Given the description of an element on the screen output the (x, y) to click on. 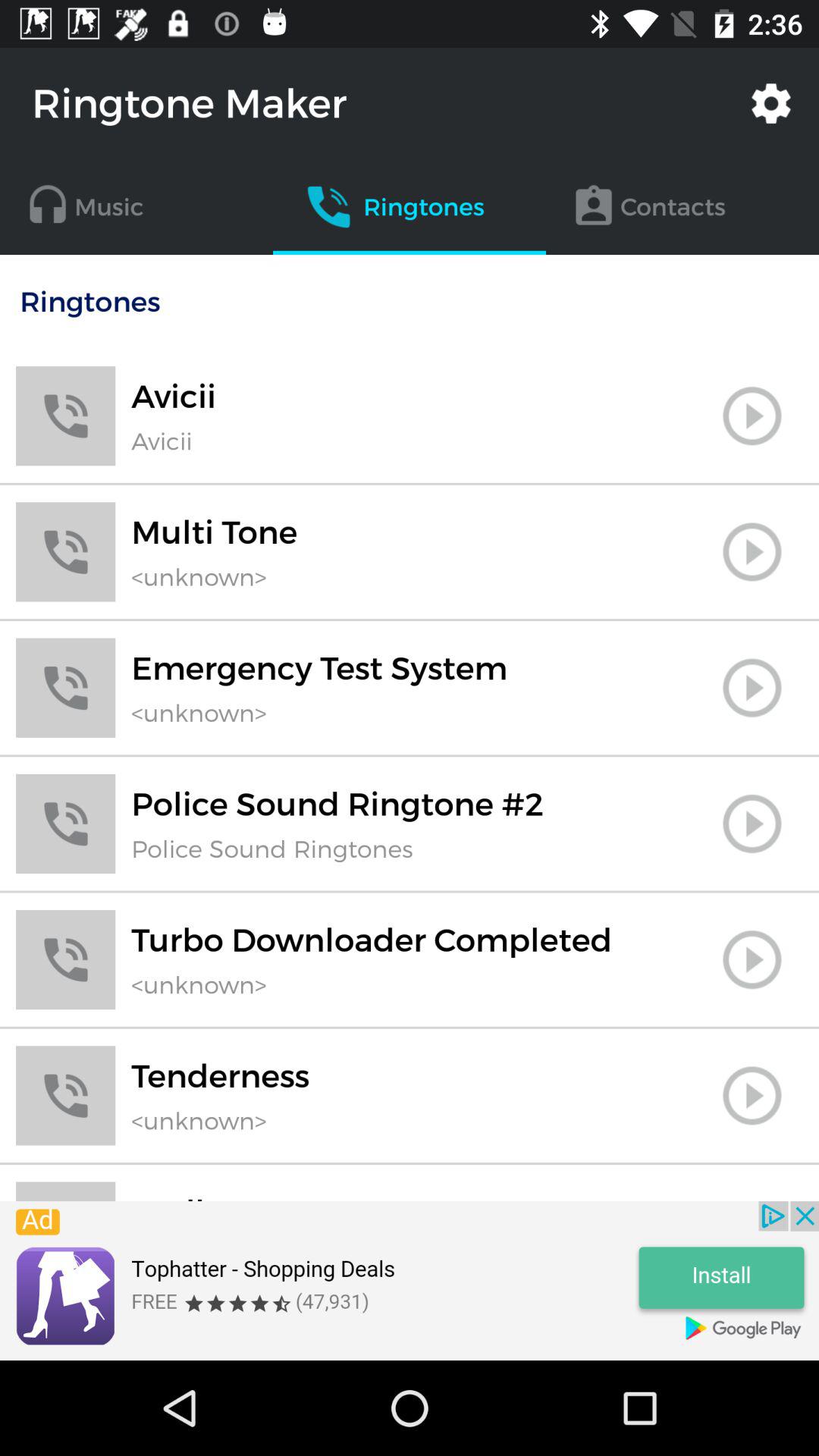
play sound (752, 1198)
